Given the description of an element on the screen output the (x, y) to click on. 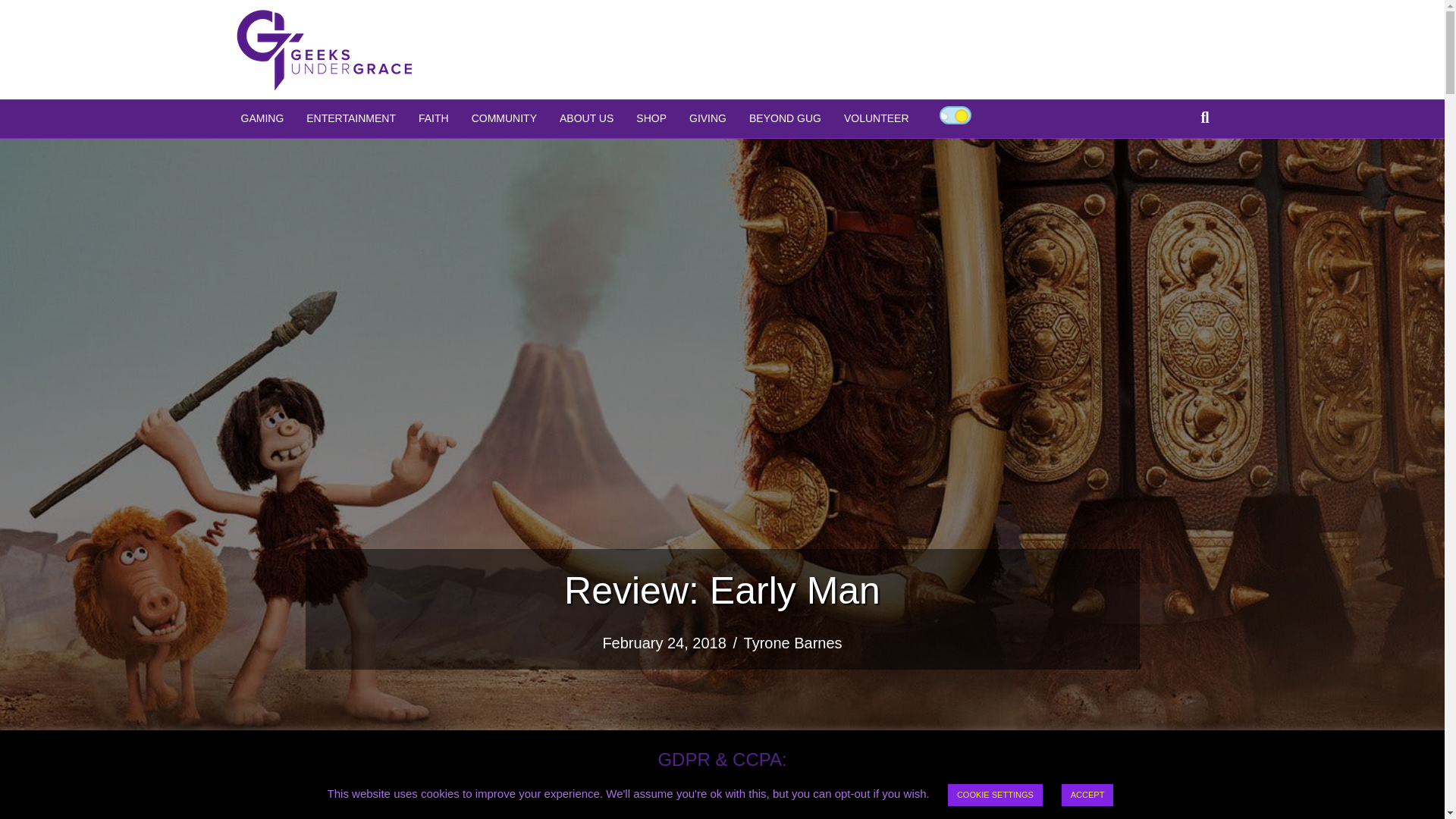
ENTERTAINMENT (351, 118)
ABOUT US (586, 118)
SHOP (651, 118)
BEYOND GUG (785, 118)
FAITH (433, 118)
GAMING (261, 118)
GIVING (708, 118)
Tyrone Barnes (793, 642)
COMMUNITY (504, 118)
VOLUNTEER (876, 118)
